Given the description of an element on the screen output the (x, y) to click on. 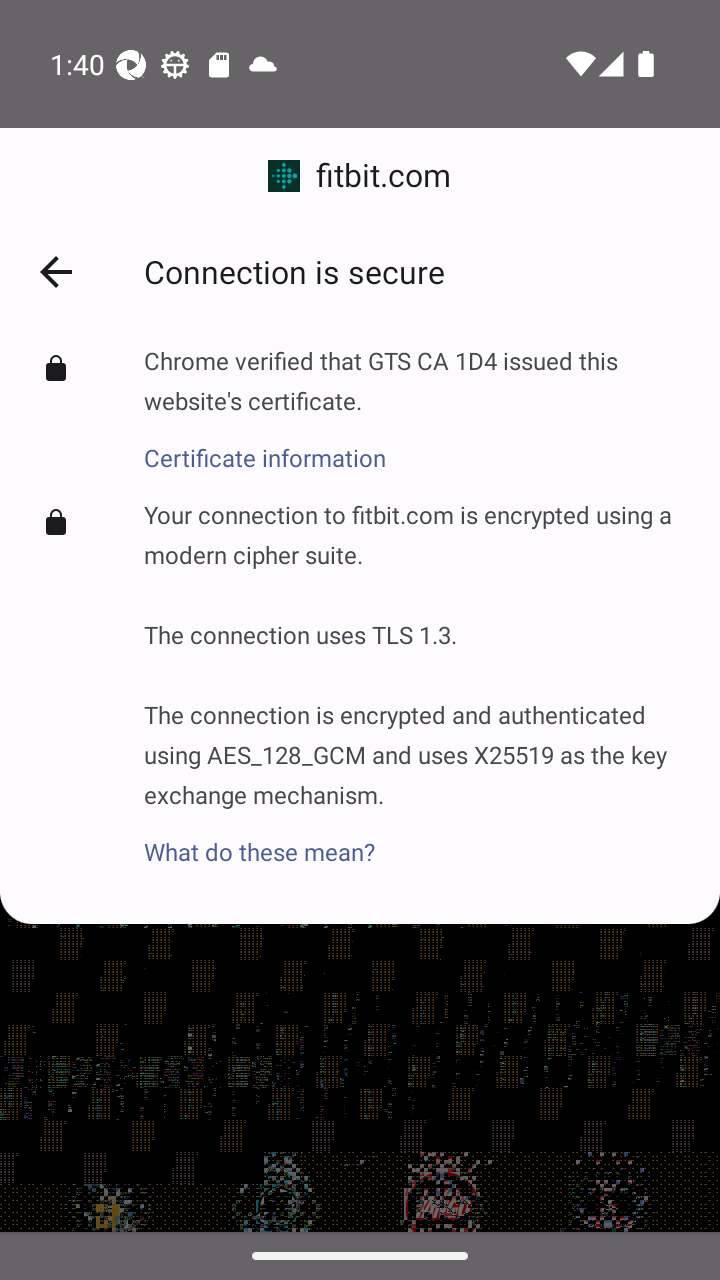
fitbit.com (360, 176)
Back (55, 272)
Certificate information (416, 445)
What do these mean? (416, 839)
